Given the description of an element on the screen output the (x, y) to click on. 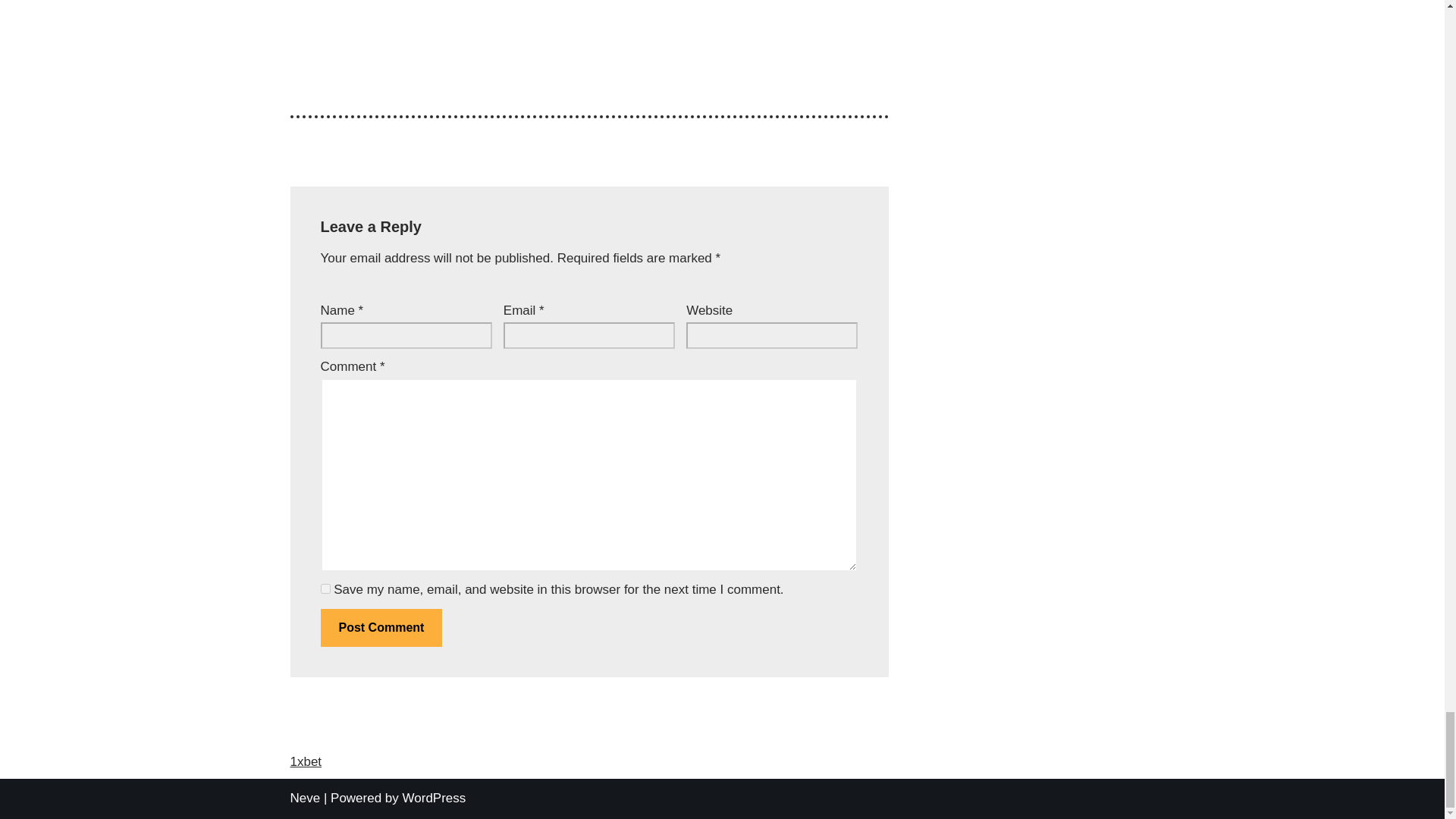
Post Comment (381, 628)
yes (325, 588)
WordPress (434, 798)
Neve (304, 798)
Post Comment (381, 628)
1xbet (305, 761)
